Given the description of an element on the screen output the (x, y) to click on. 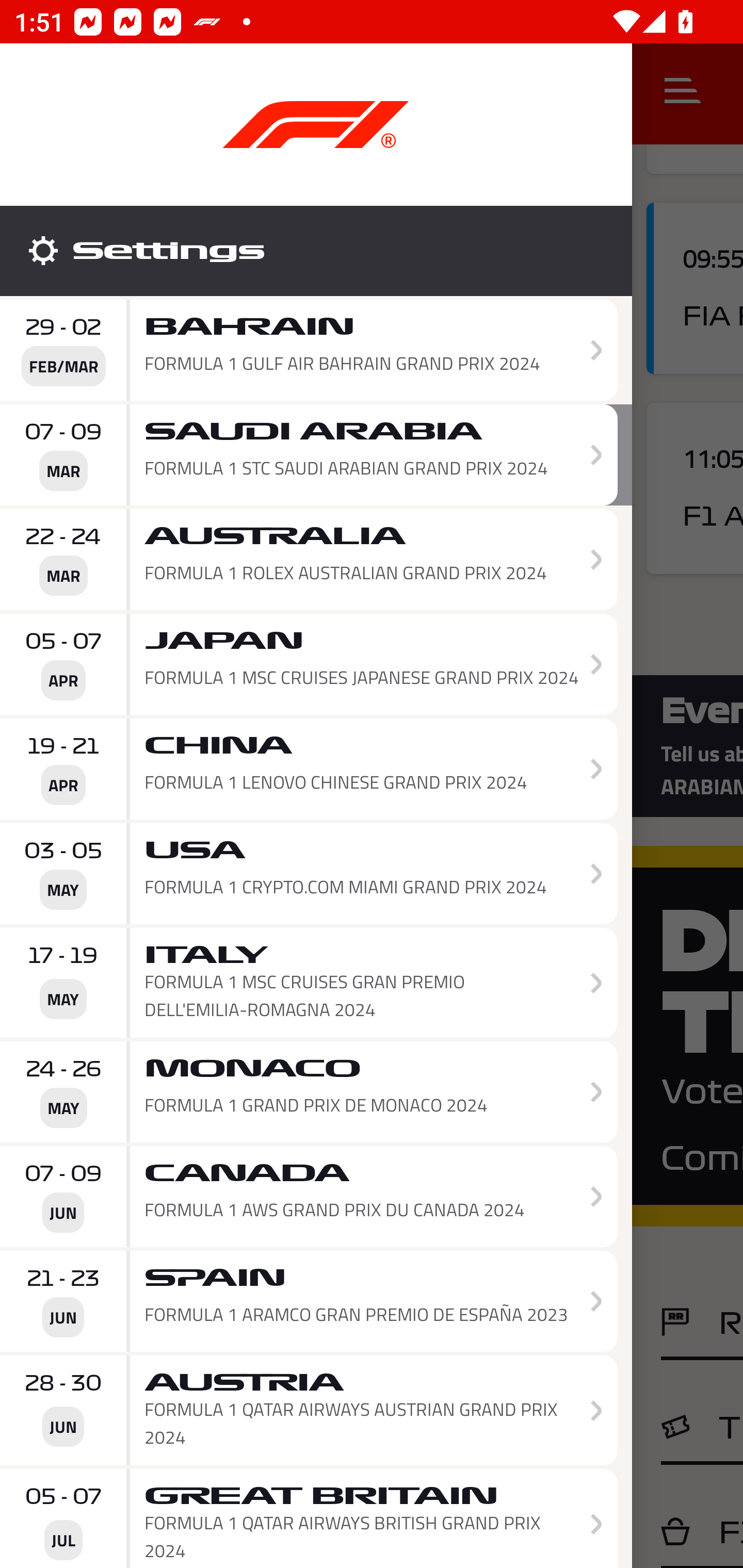
Settings (316, 250)
